Given the description of an element on the screen output the (x, y) to click on. 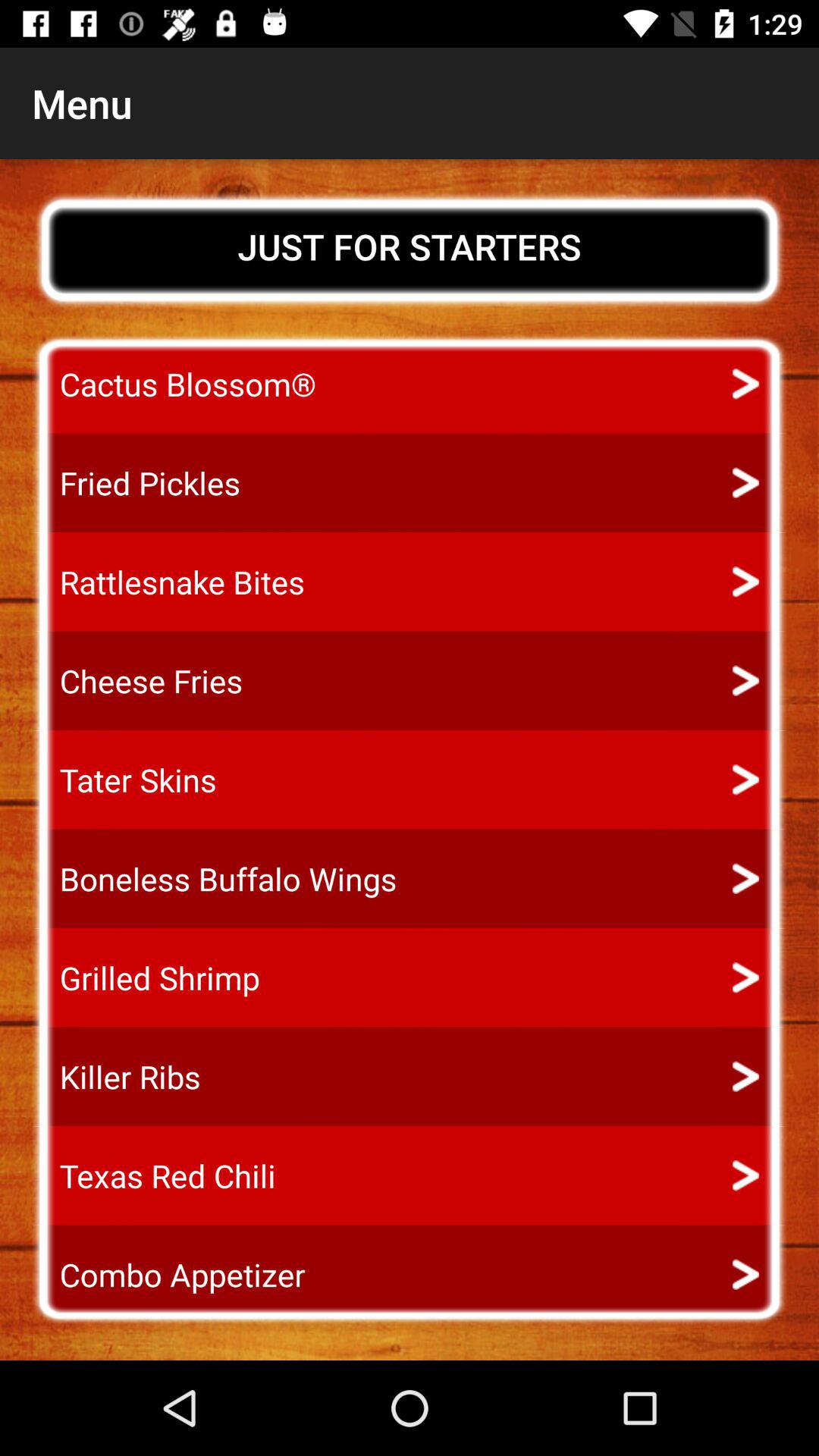
select cheese fries item (136, 680)
